Given the description of an element on the screen output the (x, y) to click on. 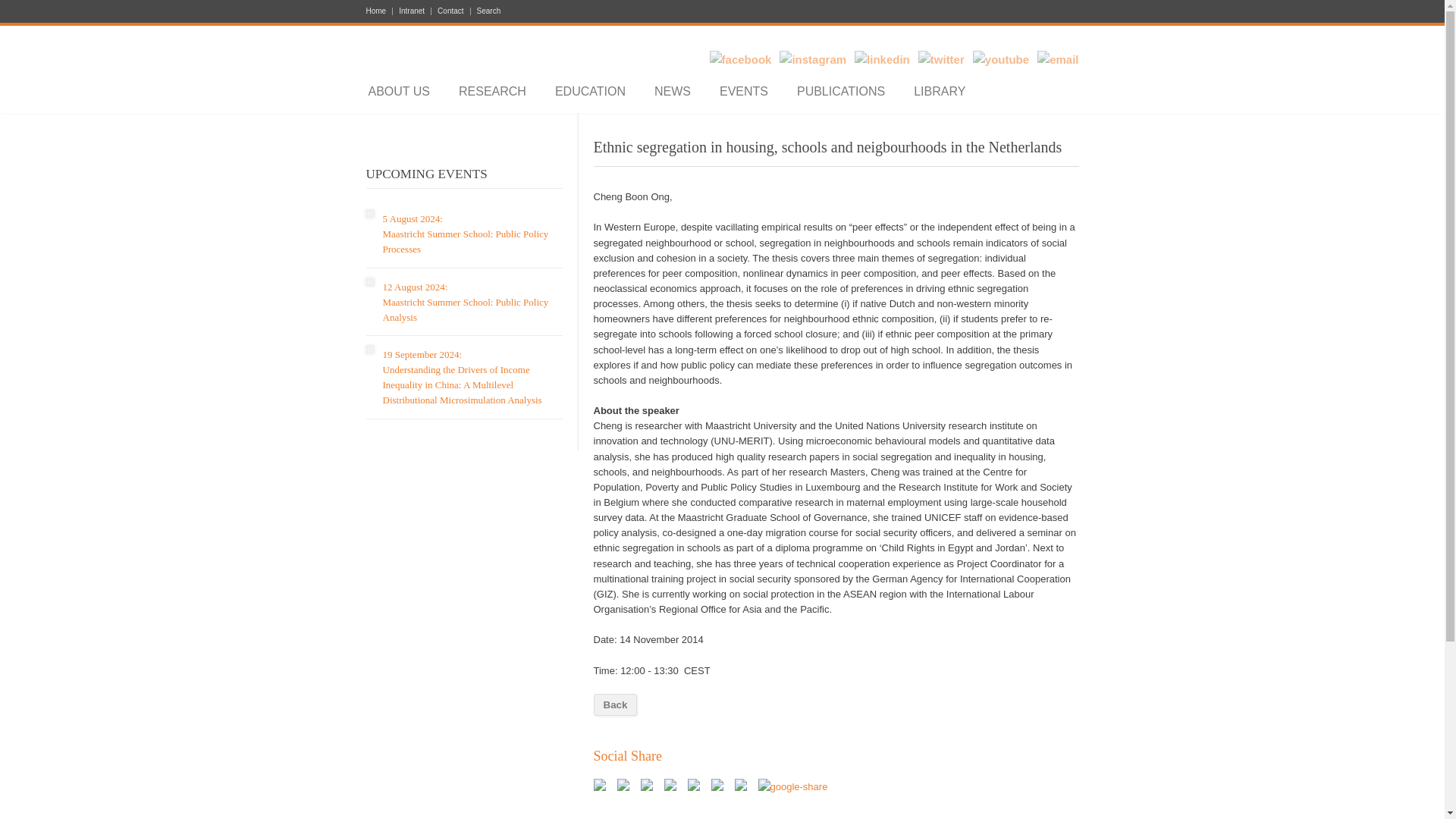
Intranet (411, 11)
RESEARCH (492, 91)
Search (485, 11)
EDUCATION (590, 91)
Home (379, 11)
Contact (450, 11)
ABOUT US (400, 91)
Back (614, 704)
